Given the description of an element on the screen output the (x, y) to click on. 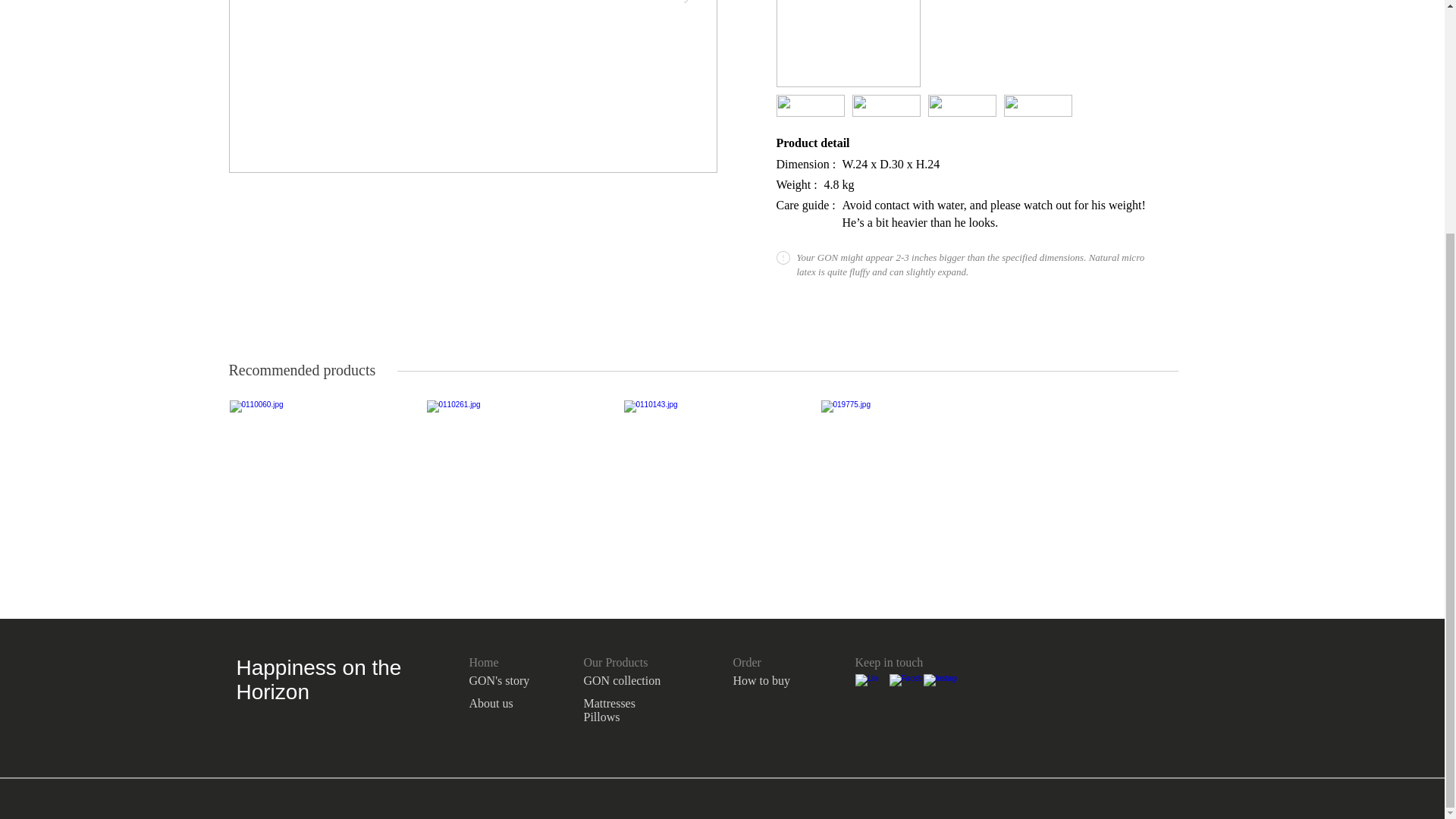
About us (490, 703)
How to buy (761, 680)
m-light.png (885, 106)
tri-light.png (1037, 106)
Pillows (601, 716)
l-light.png (961, 106)
s-dark.png (810, 106)
Mattresses (608, 703)
GON's story (498, 680)
GON collection (622, 680)
